Given the description of an element on the screen output the (x, y) to click on. 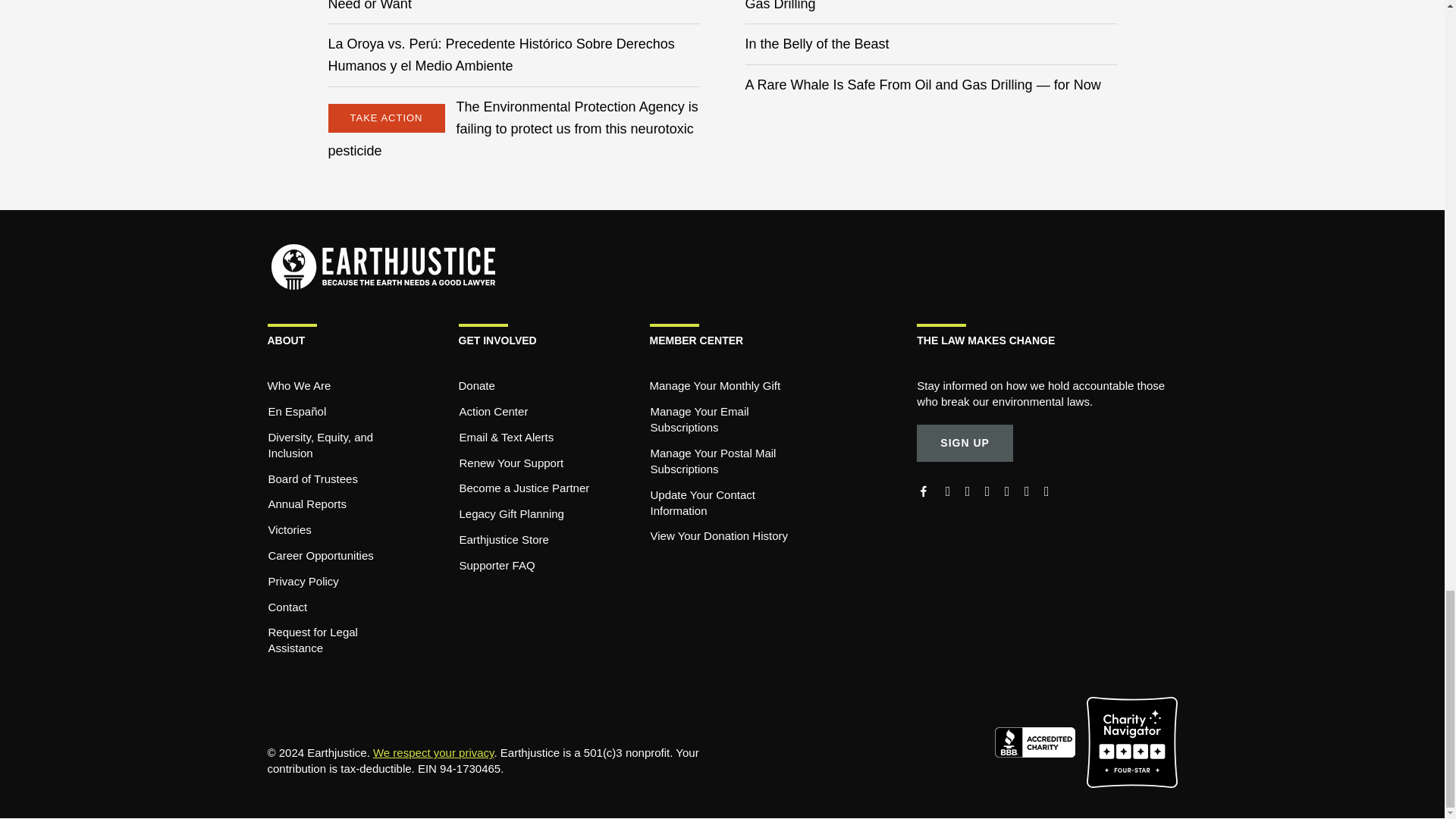
BBB Accredited (1040, 740)
In the Belly of the Beast (816, 43)
Charity Navigator: Four-Star Charity (1131, 740)
